Given the description of an element on the screen output the (x, y) to click on. 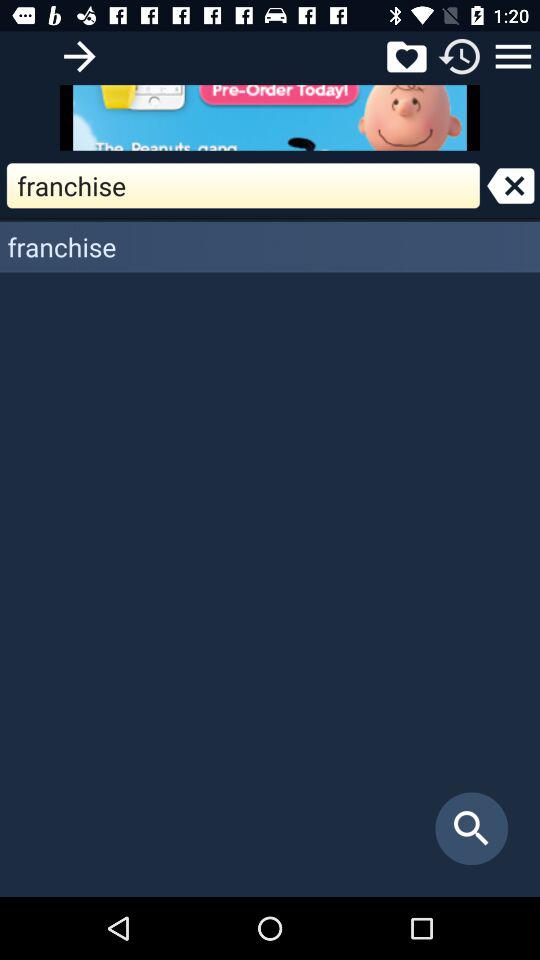
see full menu (513, 56)
